Given the description of an element on the screen output the (x, y) to click on. 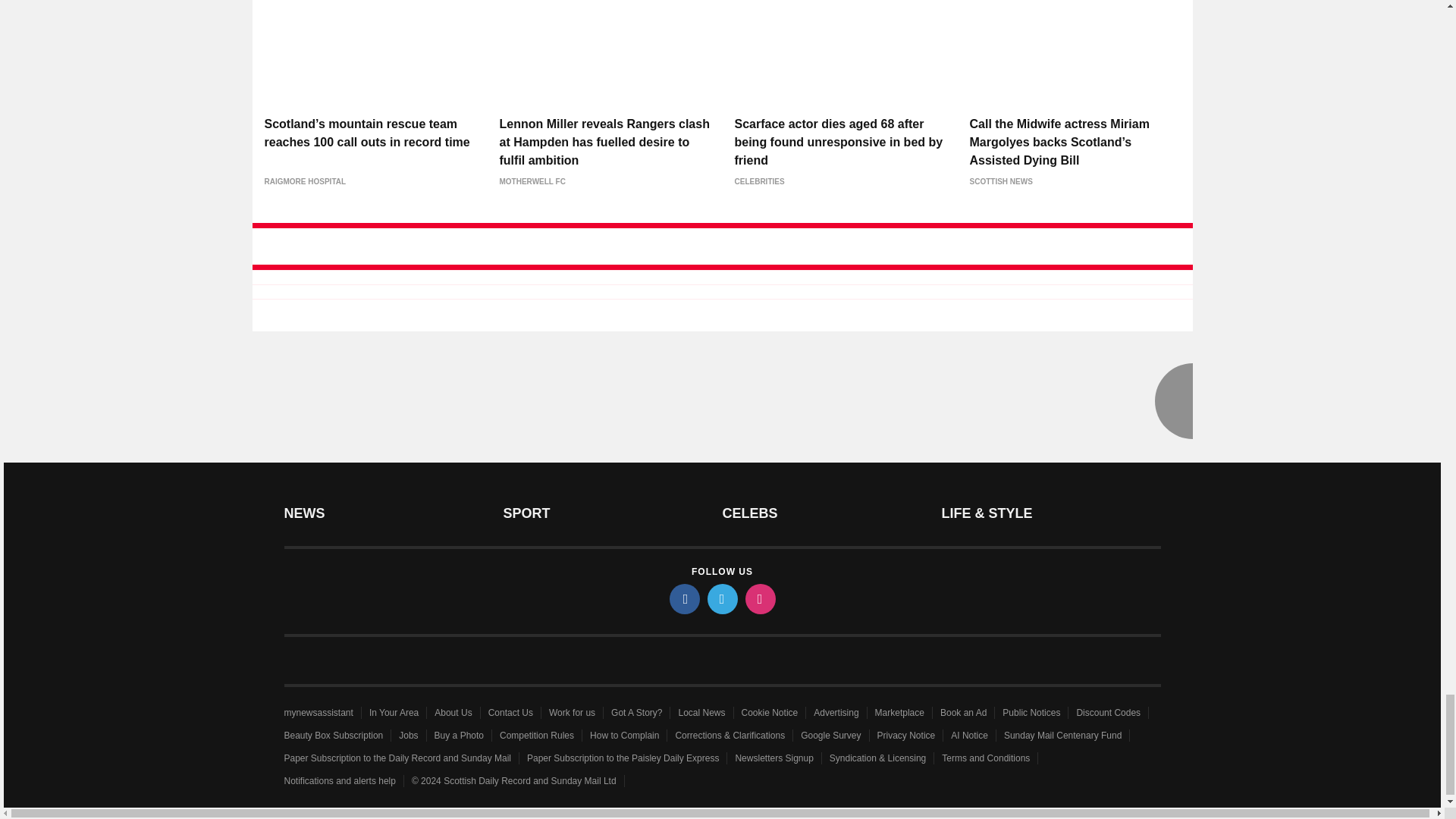
instagram (759, 598)
twitter (721, 598)
facebook (683, 598)
